Given the description of an element on the screen output the (x, y) to click on. 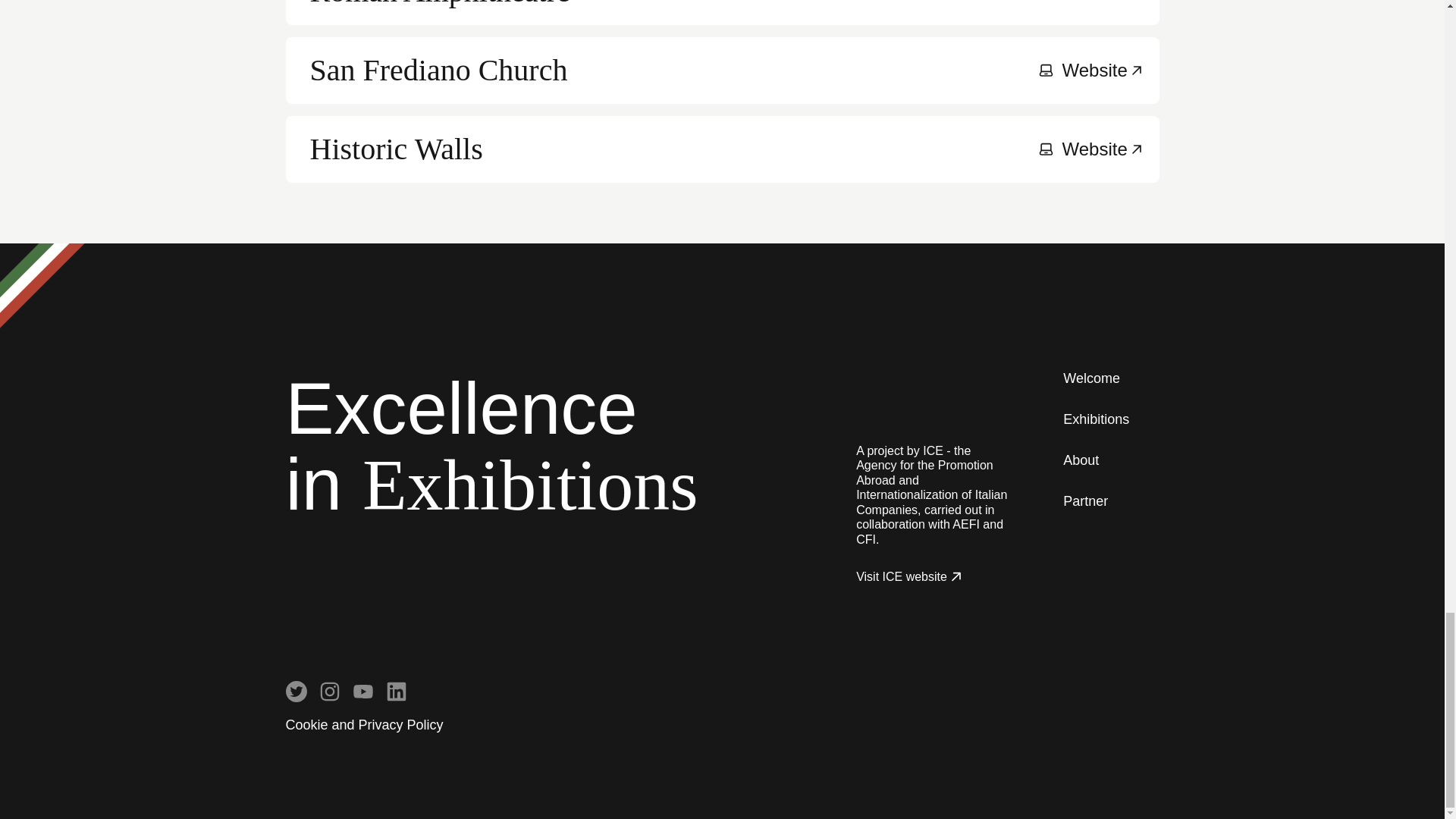
What's Next in Italy (909, 395)
Instagram (721, 12)
Linkedin (328, 690)
Instagram (395, 690)
Twitter (328, 690)
Visit ICE website (295, 690)
Linkedin (909, 576)
What's Next in Italy (395, 690)
Twitter (909, 395)
YouTube (295, 690)
About (362, 690)
Cookie and Privacy Policy (1080, 460)
Exhibitions (363, 724)
